Given the description of an element on the screen output the (x, y) to click on. 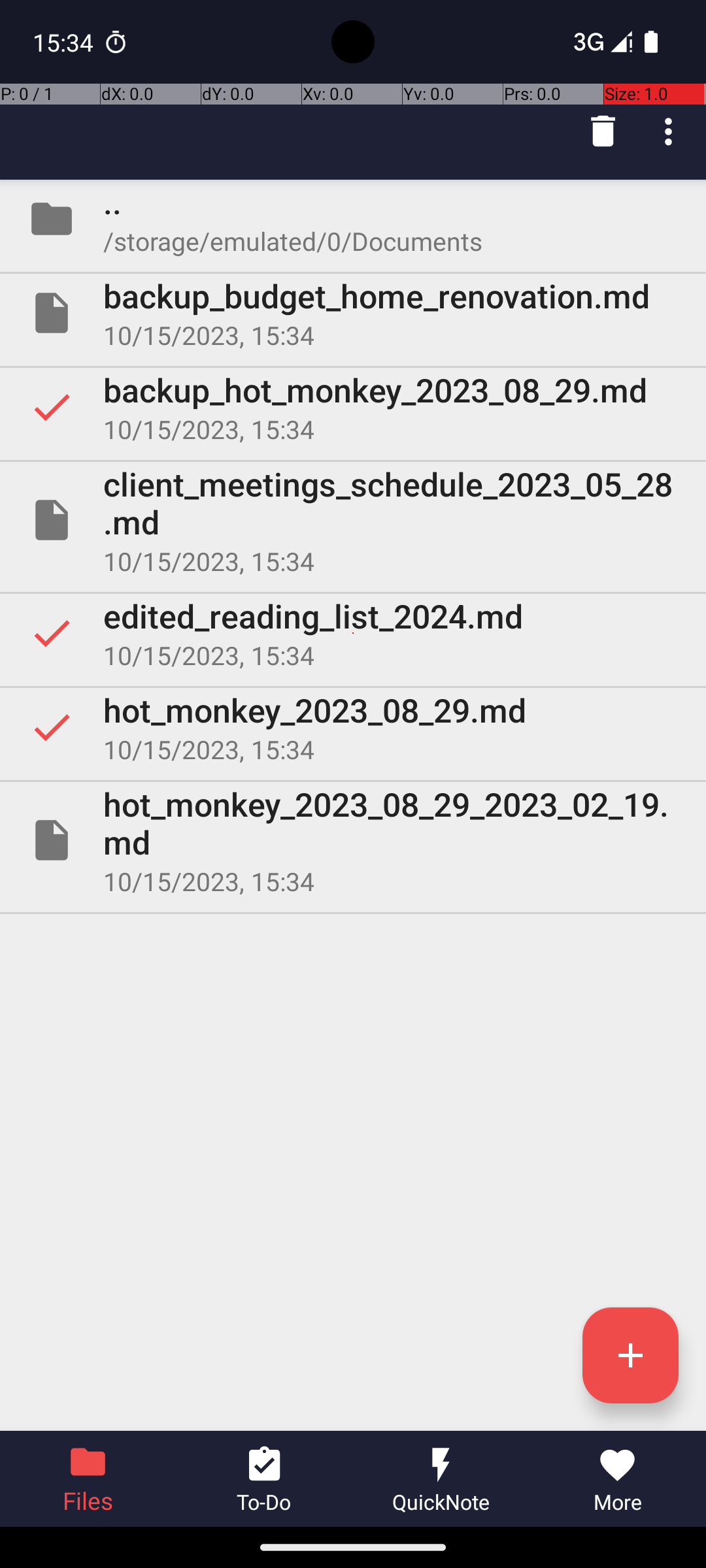
File backup_budget_home_renovation.md  Element type: android.widget.LinearLayout (353, 312)
Selected backup_hot_monkey_2023_08_29.md  Element type: android.widget.LinearLayout (353, 406)
File client_meetings_schedule_2023_05_28.md  Element type: android.widget.LinearLayout (353, 519)
Selected edited_reading_list_2024.md 10/15/2023, 15:34 Element type: android.widget.LinearLayout (353, 632)
Selected hot_monkey_2023_08_29.md 10/15/2023, 15:34 Element type: android.widget.LinearLayout (353, 726)
File hot_monkey_2023_08_29_2023_02_19.md  Element type: android.widget.LinearLayout (353, 840)
